Given the description of an element on the screen output the (x, y) to click on. 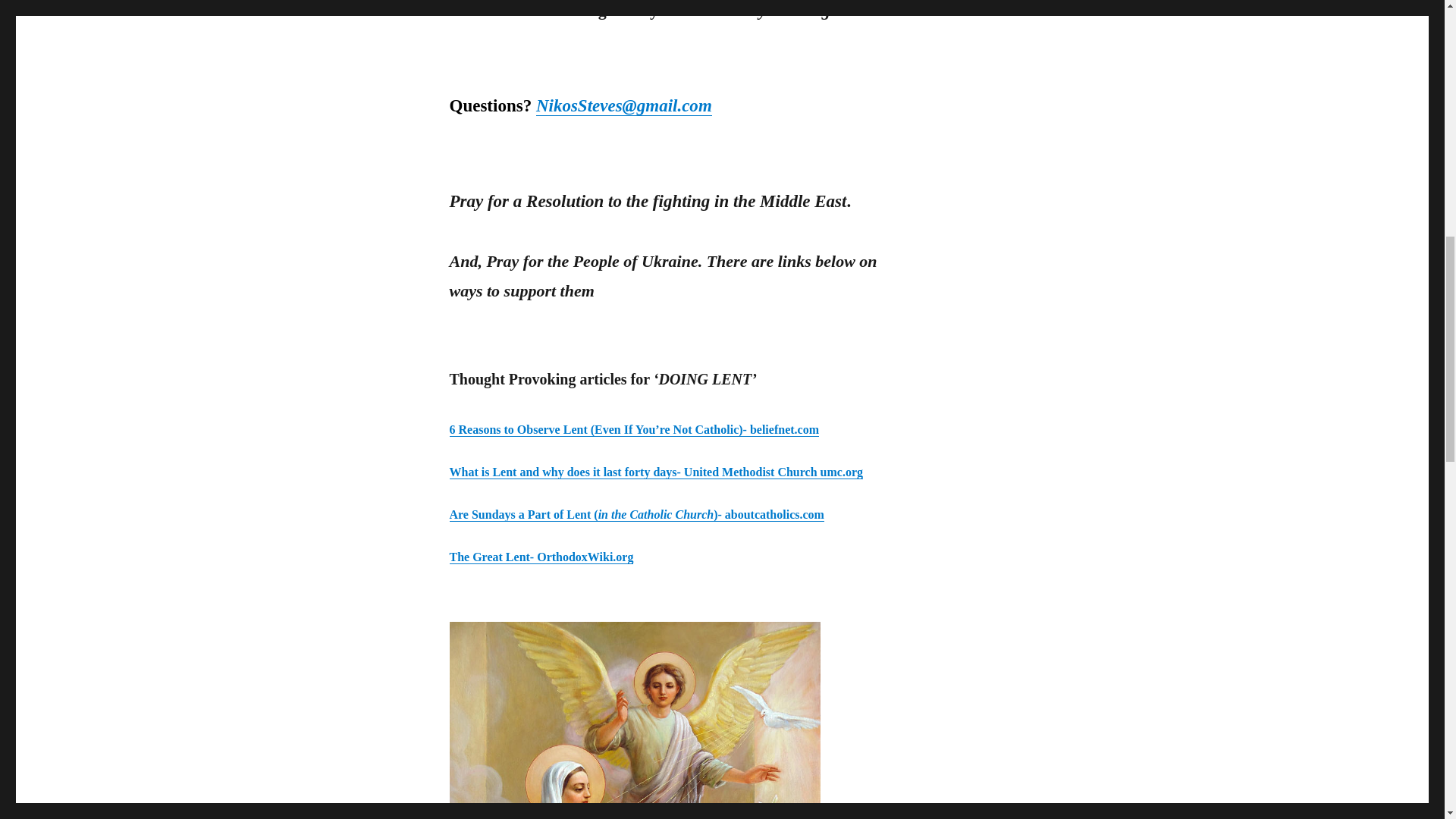
Nikos (556, 105)
The Great Lent- OrthodoxWiki.or (537, 556)
